Given the description of an element on the screen output the (x, y) to click on. 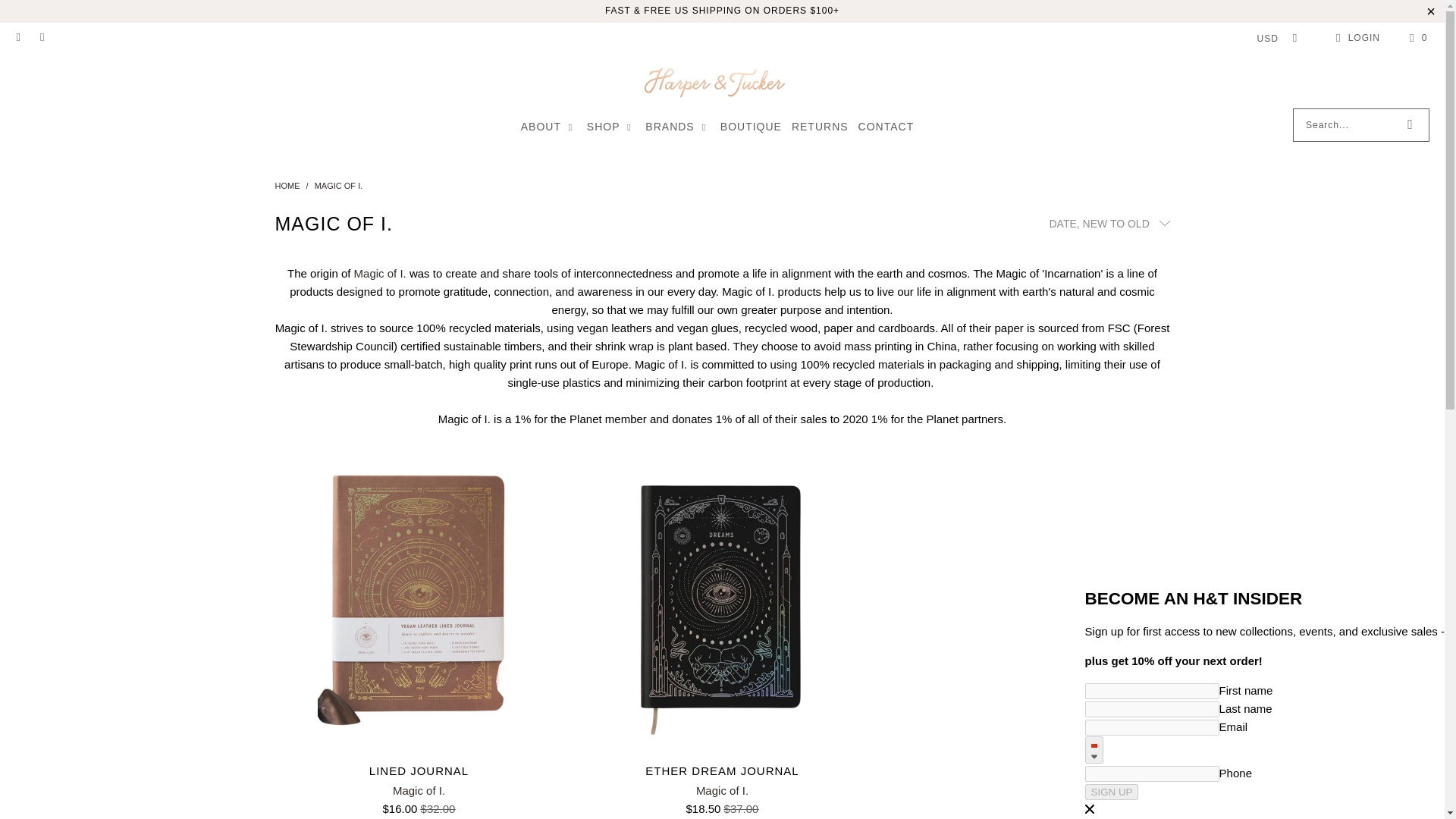
My Account  (1355, 37)
Magic of I. (338, 184)
Magic of I. Homepage (379, 273)
